Given the description of an element on the screen output the (x, y) to click on. 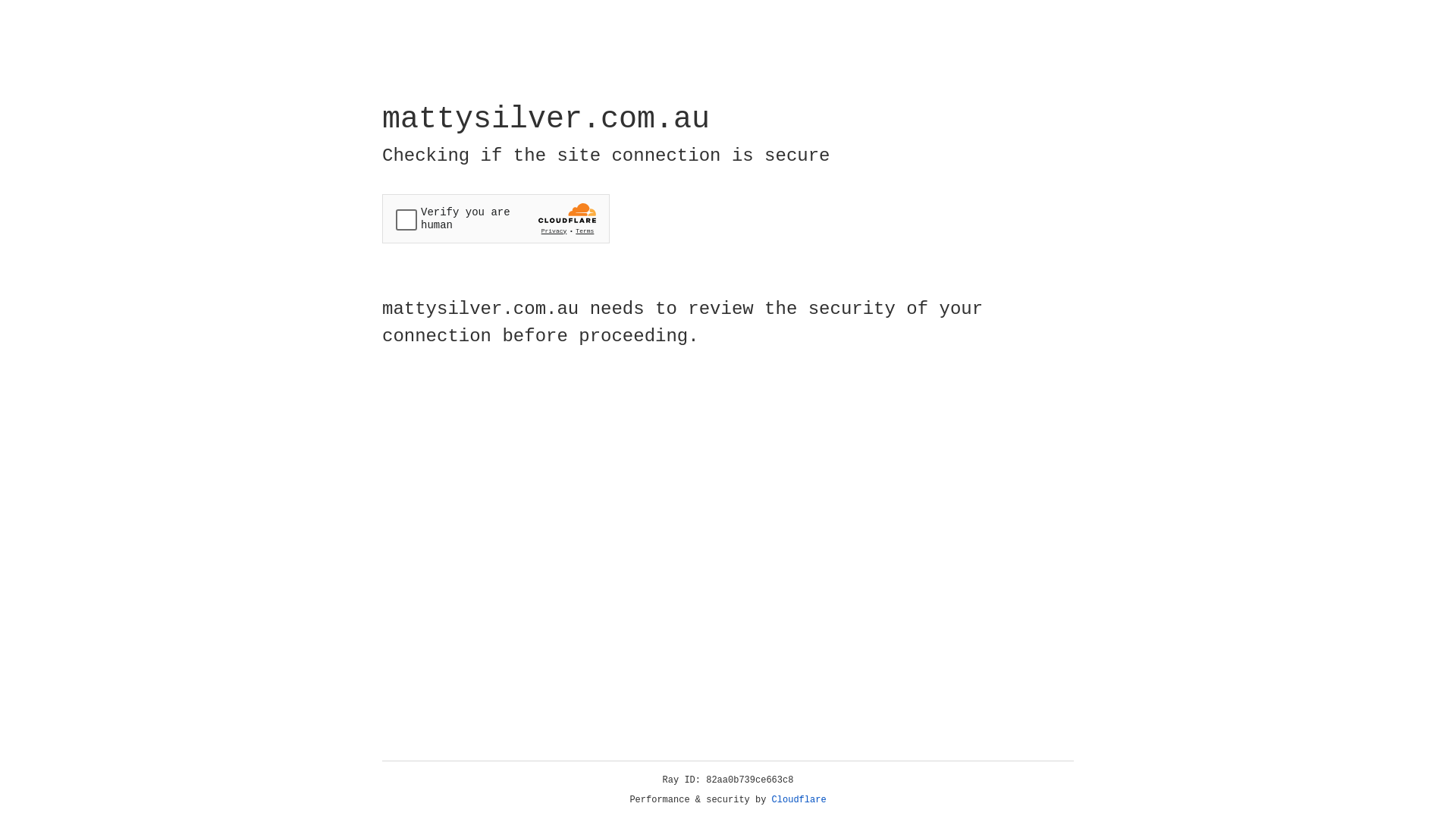
Widget containing a Cloudflare security challenge Element type: hover (495, 218)
Cloudflare Element type: text (798, 799)
